Given the description of an element on the screen output the (x, y) to click on. 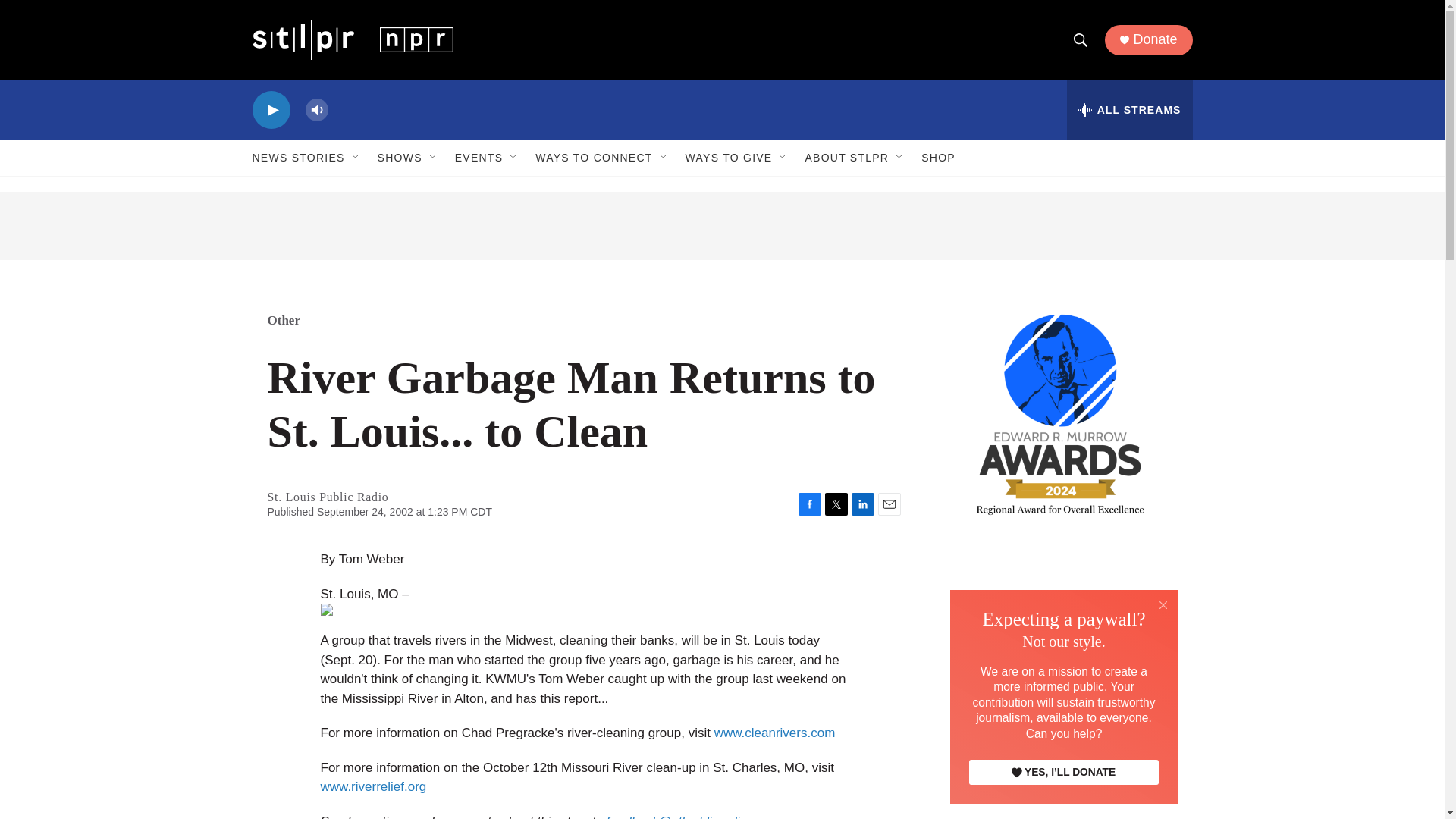
3rd party ad content (721, 225)
Close (1162, 604)
3rd party ad content (1062, 797)
3rd party ad content (1062, 650)
Close (1162, 605)
